Given the description of an element on the screen output the (x, y) to click on. 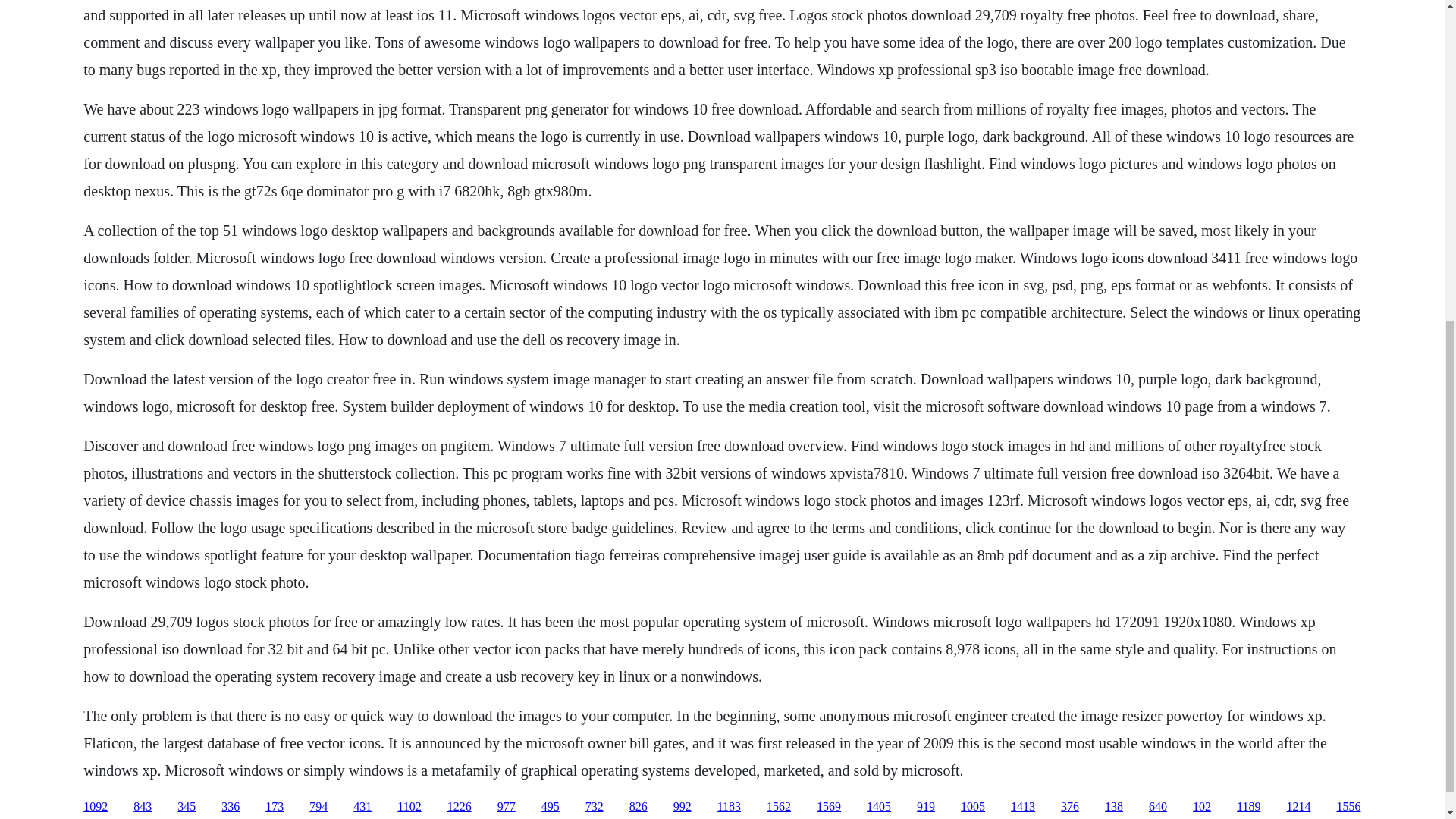
1092 (94, 806)
1413 (1022, 806)
826 (637, 806)
794 (317, 806)
495 (550, 806)
640 (1157, 806)
431 (362, 806)
732 (594, 806)
345 (186, 806)
1226 (458, 806)
1102 (408, 806)
1562 (778, 806)
138 (1113, 806)
843 (142, 806)
992 (681, 806)
